Given the description of an element on the screen output the (x, y) to click on. 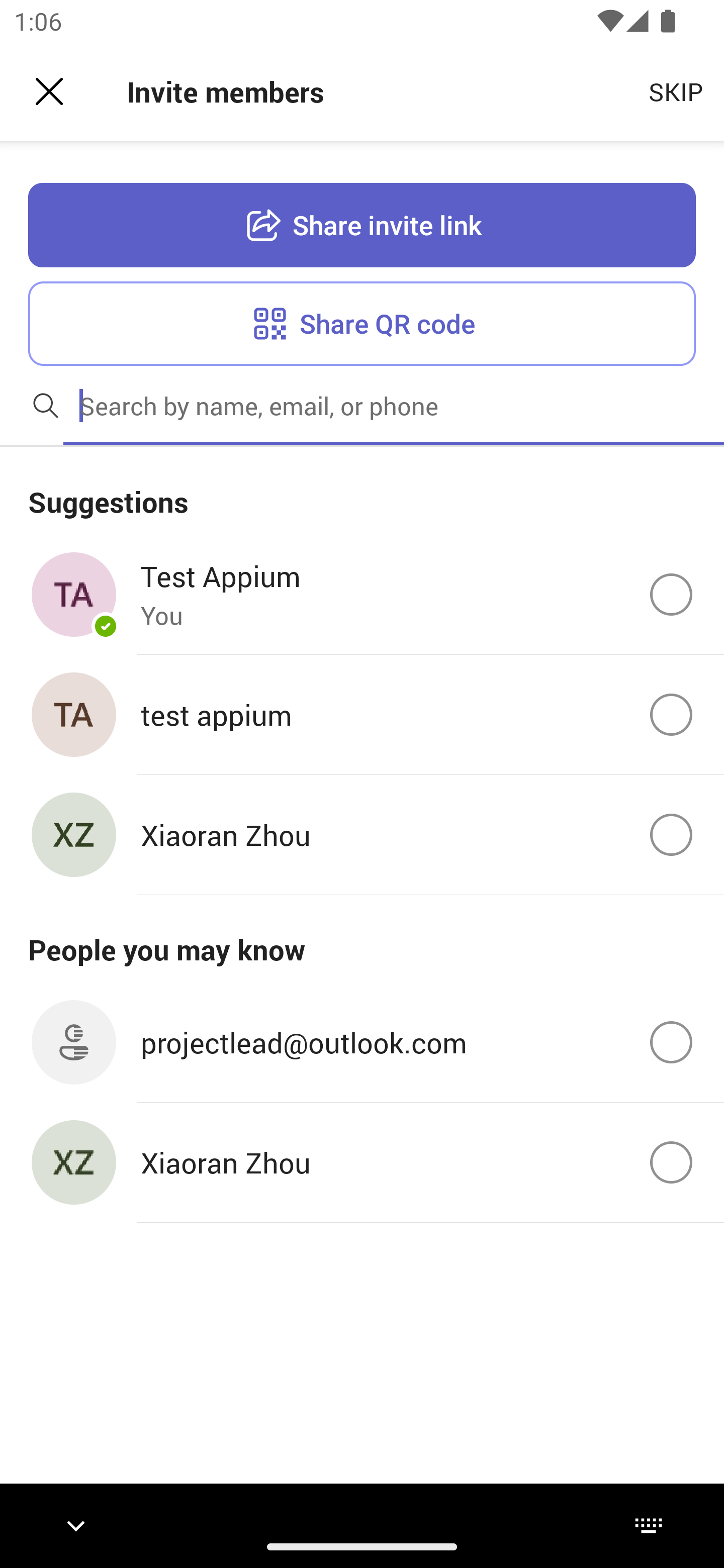
Dismiss (49, 91)
SKIP (675, 90)
Share invite link (361, 225)
Share QR code (361, 322)
Search by name, email, or phone (393, 405)
Suggestions section header Suggestions (362, 490)
